Given the description of an element on the screen output the (x, y) to click on. 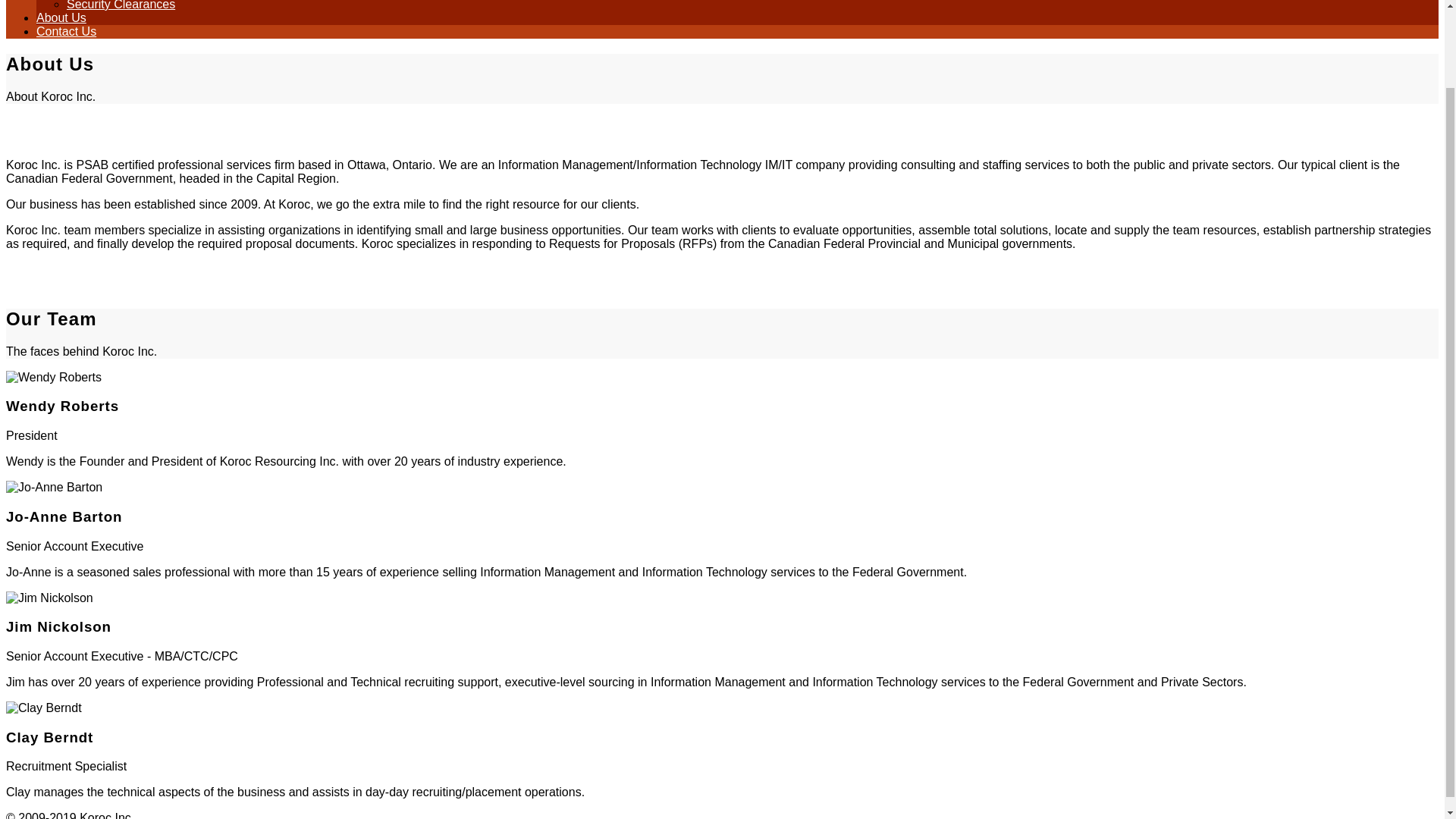
Contact Us (66, 31)
About Us (60, 17)
Security Clearances (120, 5)
